Given the description of an element on the screen output the (x, y) to click on. 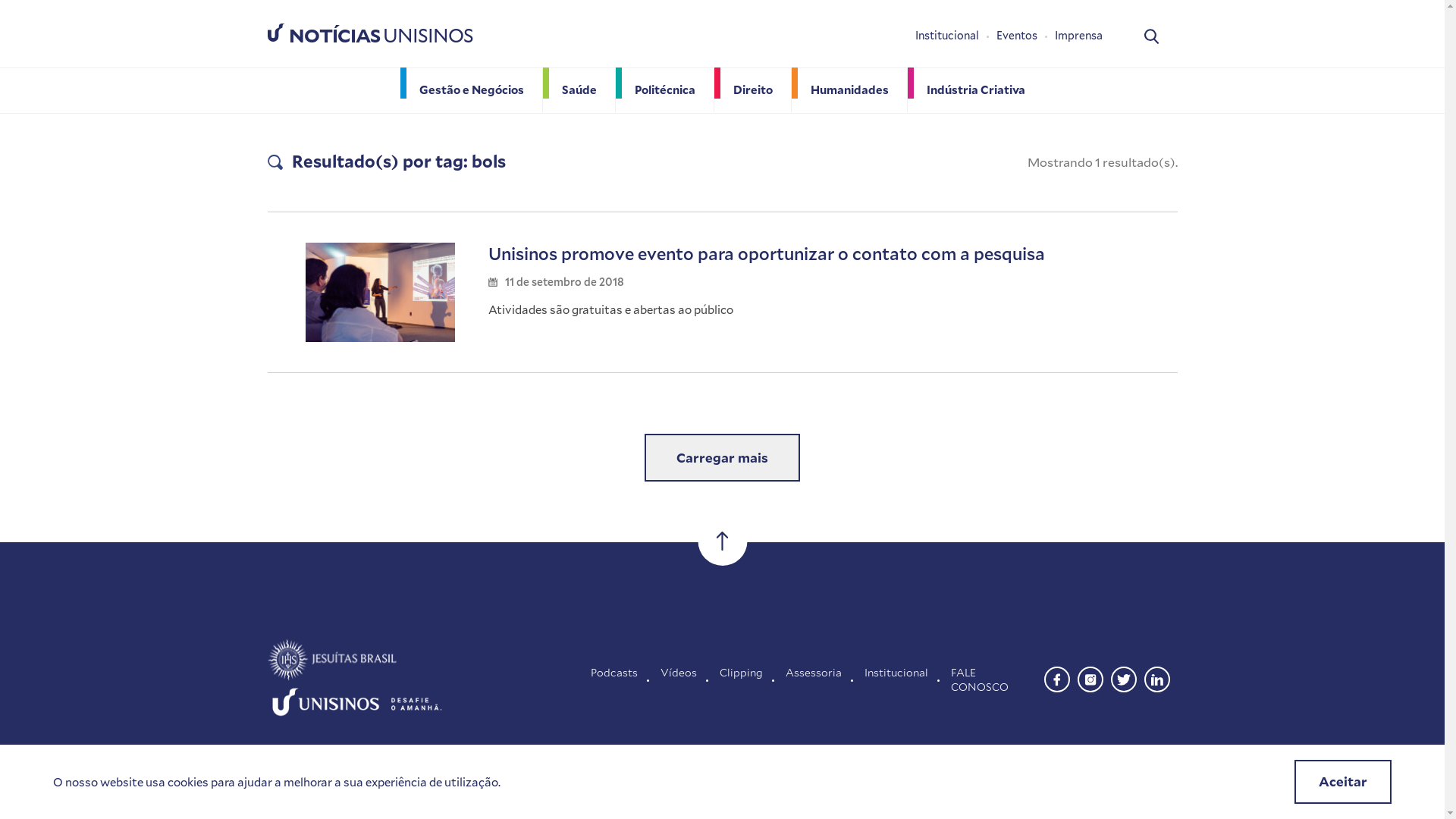
Podcasts Element type: text (613, 679)
Assessoria Element type: text (813, 679)
Direito Element type: text (752, 89)
Institucional Element type: text (896, 679)
FALE CONOSCO Element type: text (991, 679)
twitter Element type: hover (1122, 677)
Institucional Element type: text (954, 35)
Humanidades Element type: text (849, 89)
Aceitar Element type: text (1342, 781)
Imprensa Element type: text (1077, 35)
facebook Element type: hover (1056, 677)
Instagram Element type: hover (1089, 677)
Clipping Element type: text (740, 679)
Carregar mais Element type: text (722, 457)
Busca Element type: hover (1150, 34)
Eventos Element type: text (1025, 35)
